Given the description of an element on the screen output the (x, y) to click on. 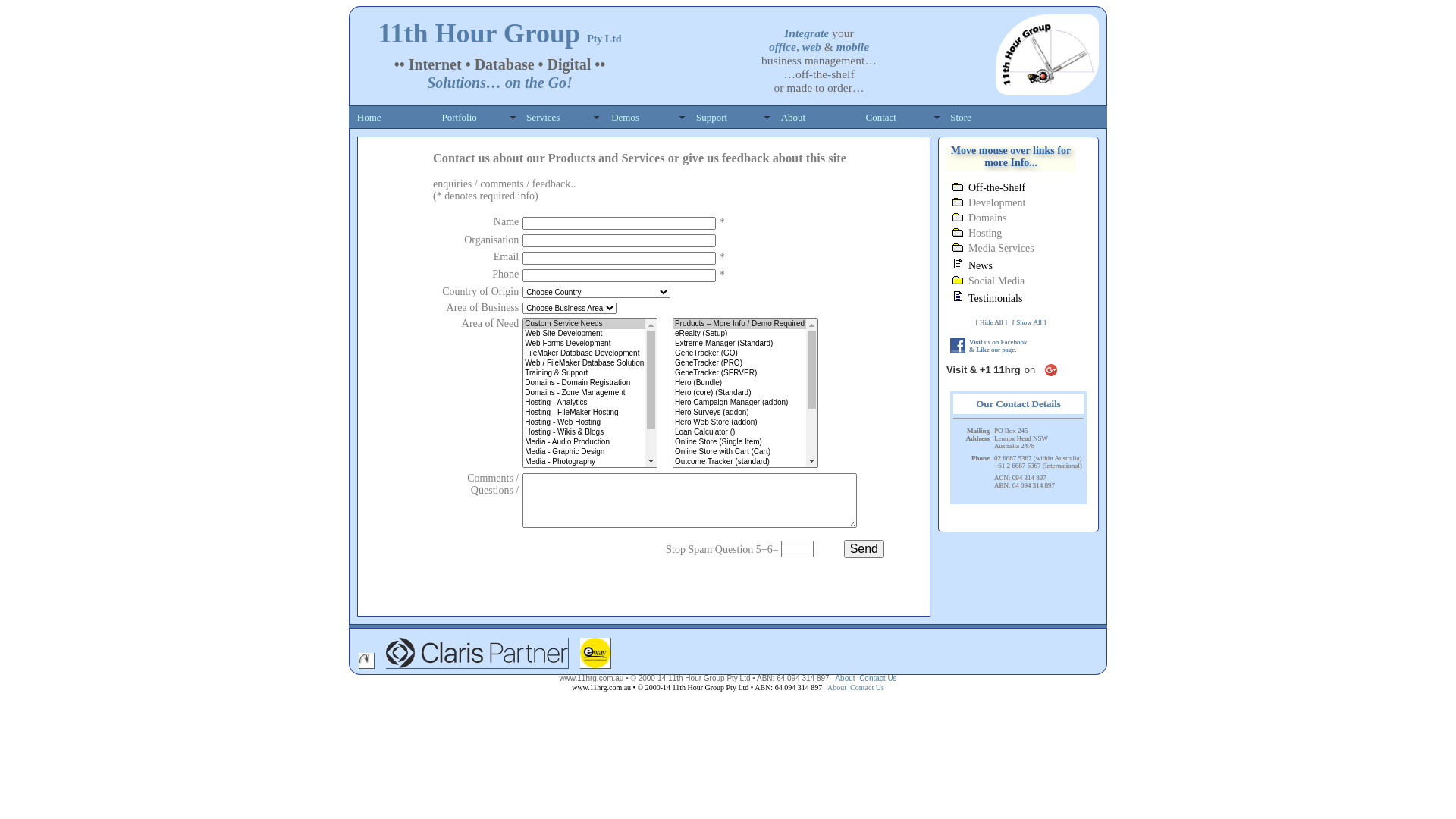
Home Element type: text (391, 117)
News Element type: text (980, 265)
Visit us on Facebook
& Like our page. Element type: text (997, 345)
Portfolio Element type: text (476, 117)
About Element type: text (844, 678)
About Element type: text (815, 117)
[ Hide All ] Element type: text (991, 322)
Store Element type: text (985, 117)
Contact Us Element type: text (877, 678)
Contact Us Element type: text (867, 687)
Support Element type: text (730, 117)
Services Element type: text (561, 117)
About Element type: text (836, 687)
Contact Element type: text (900, 117)
Demos Element type: text (645, 117)
Send Element type: text (864, 548)
Visit & +1 11hrgon Element type: text (1001, 370)
Claris Partner Element type: hover (477, 665)
Off-the-Shelf Element type: text (996, 187)
[ Show All ] Element type: text (1028, 322)
Testimonials Element type: text (995, 298)
